Given the description of an element on the screen output the (x, y) to click on. 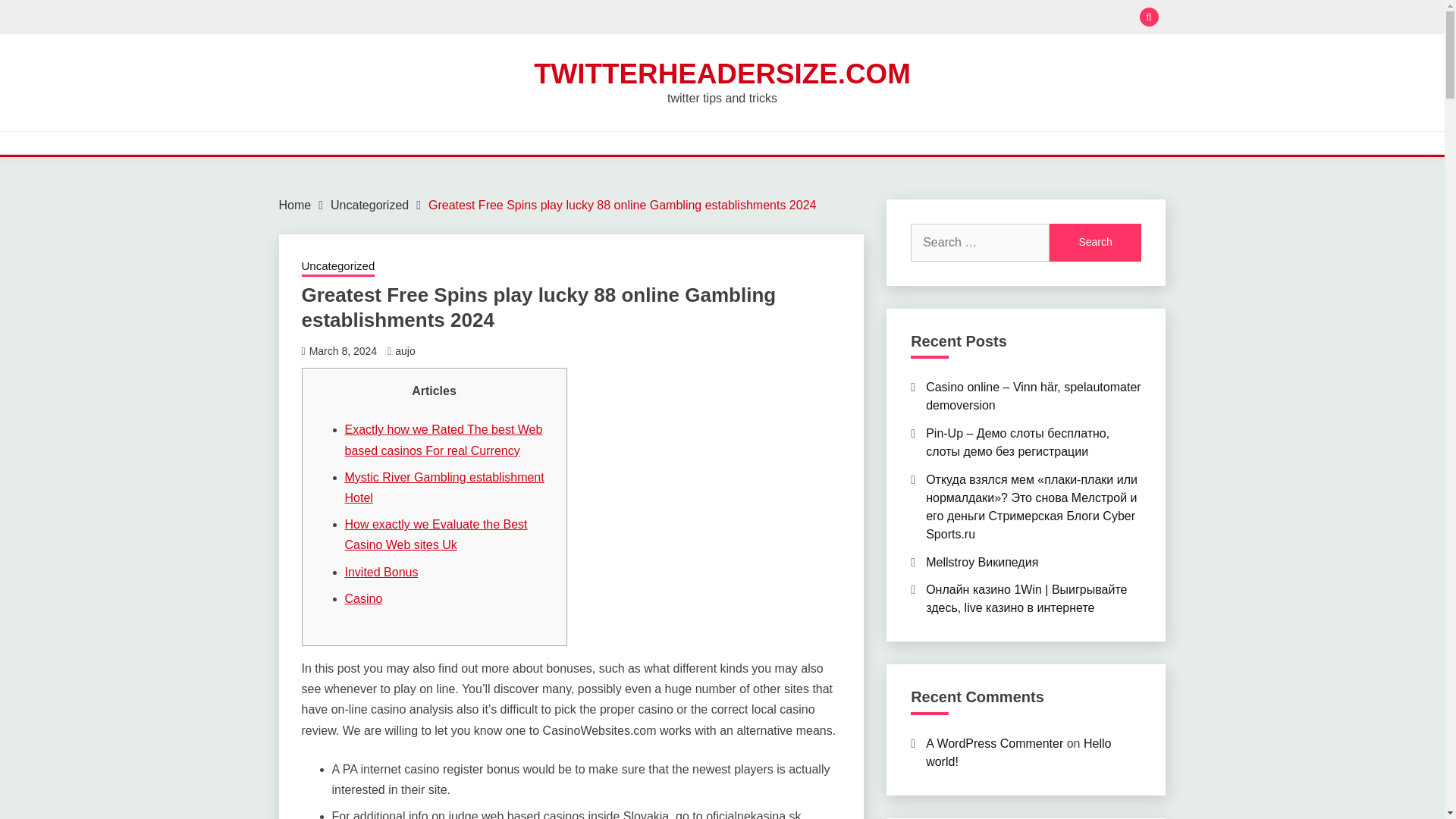
Search (832, 18)
Search (1095, 242)
March 8, 2024 (342, 350)
Search (1095, 242)
TWITTERHEADERSIZE.COM (722, 73)
Home (295, 205)
Hello world! (1018, 752)
Uncategorized (369, 205)
A WordPress Commenter (994, 743)
Casino (362, 598)
Mystic River Gambling establishment Hotel (443, 487)
Uncategorized (338, 267)
Search (1095, 242)
